Given the description of an element on the screen output the (x, y) to click on. 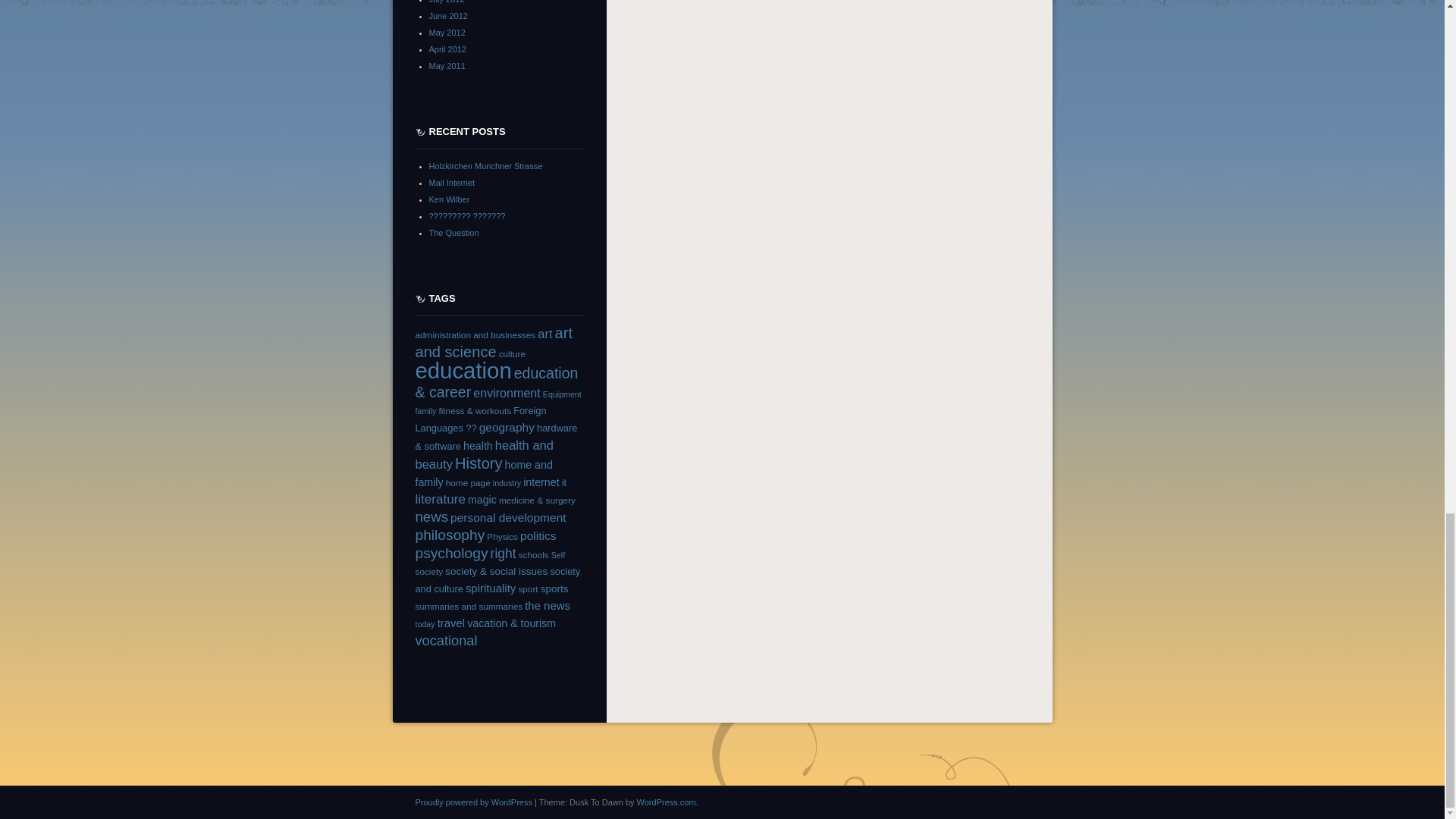
A Semantic Personal Publishing Platform (473, 800)
